Given the description of an element on the screen output the (x, y) to click on. 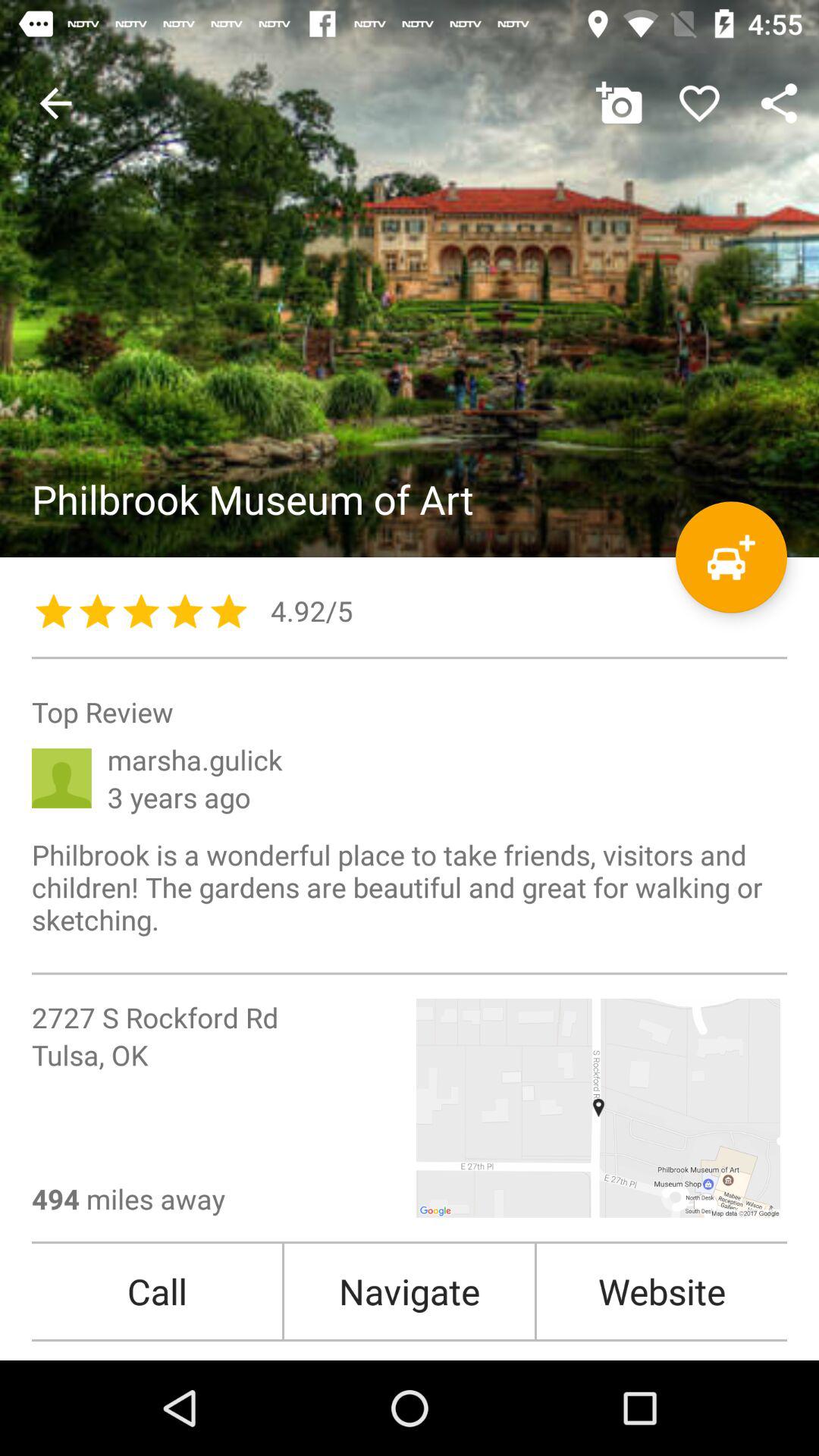
get directions (731, 557)
